Given the description of an element on the screen output the (x, y) to click on. 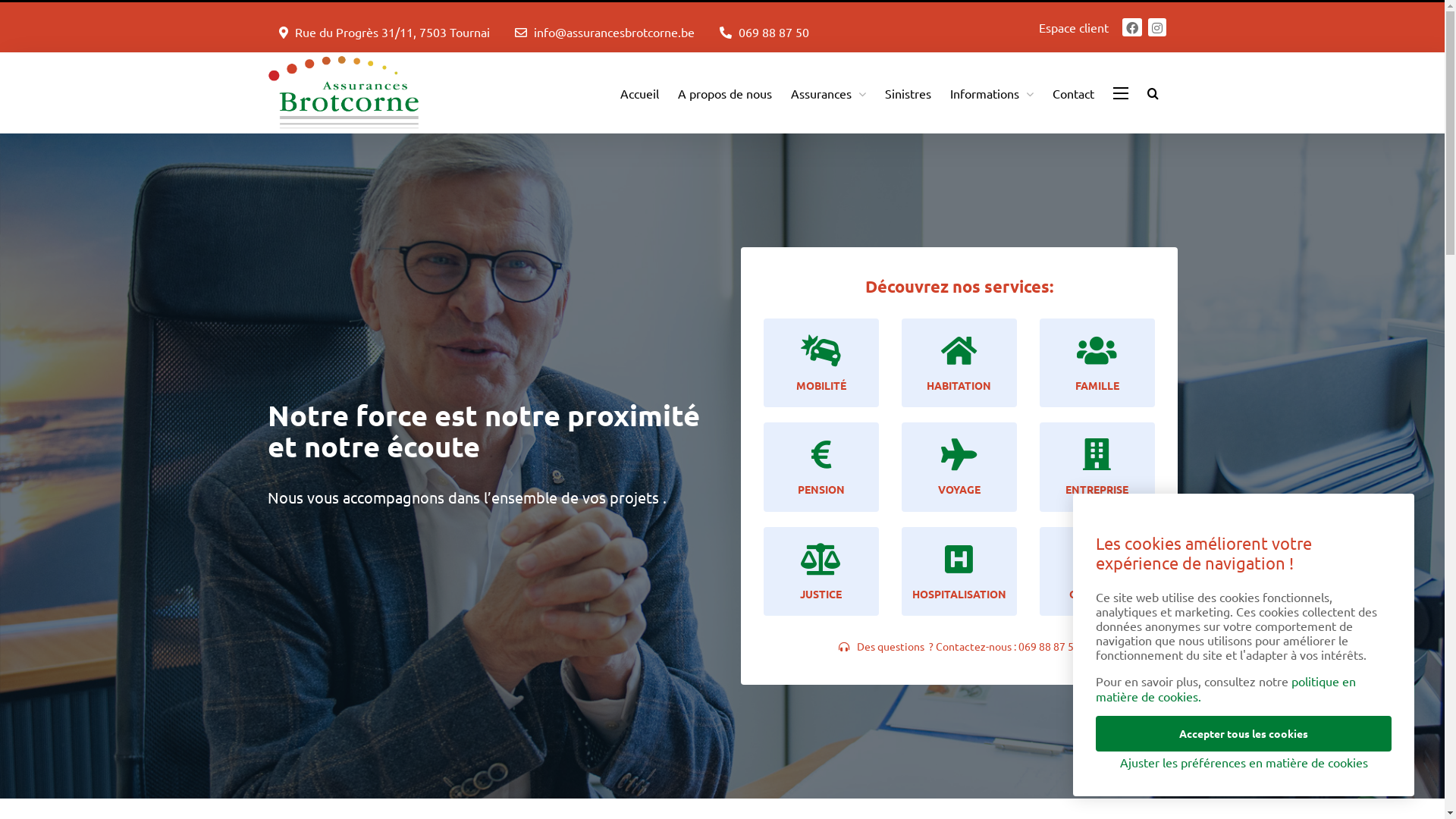
HABITATION Element type: text (958, 362)
JUSTICE Element type: text (820, 571)
Accueil Element type: text (639, 92)
069 88 87 50 Element type: text (1048, 645)
069 88 87 50 Element type: text (773, 31)
Sinistres Element type: text (907, 92)
Espace client Element type: text (1073, 26)
FAMILLE Element type: text (1096, 362)
ENTREPRISE Element type: text (1096, 466)
info@assurancesbrotcorne.be Element type: text (613, 31)
Accepter tous les cookies Element type: text (1243, 733)
Search Element type: hover (1151, 92)
Assurances Element type: text (827, 92)
Informations Element type: text (990, 92)
VOYAGE Element type: text (958, 466)
A propos de nous Element type: text (724, 92)
Contact Element type: text (1073, 92)
PENSION Element type: text (820, 466)
HOSPITALISATION Element type: text (958, 571)
